Given the description of an element on the screen output the (x, y) to click on. 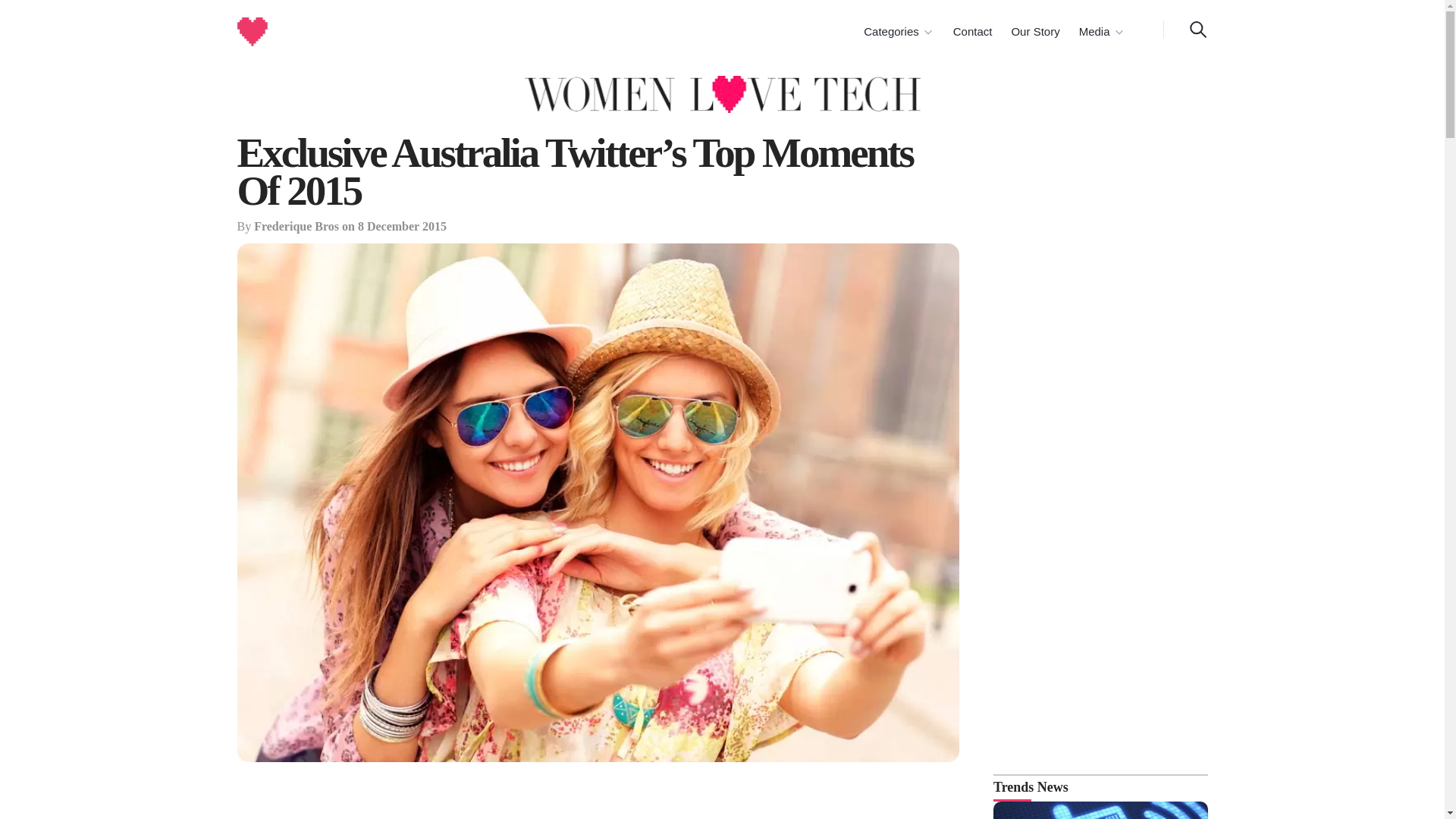
Our Story (1033, 31)
Contact (970, 31)
Media (1101, 31)
Advertisement (597, 799)
Categories (897, 31)
Frederique Bros (296, 226)
